Given the description of an element on the screen output the (x, y) to click on. 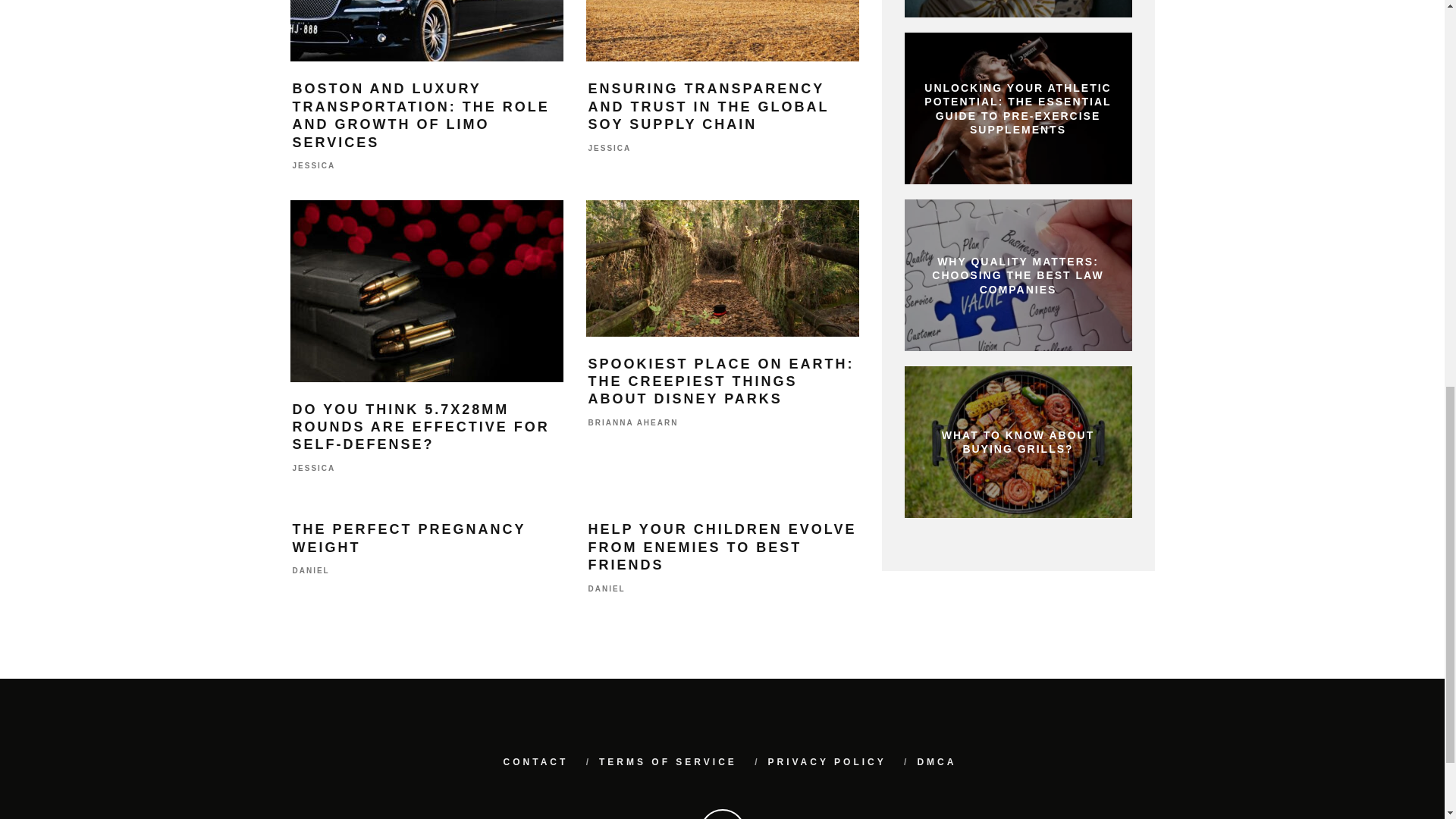
JESSICA (314, 468)
Asbestos Injury Lawyer: What Do They Do? (1017, 8)
BRIANNA AHEARN (633, 422)
JESSICA (314, 166)
Do You Think 5.7x28mm Rounds Are Effective For Self-defense? (425, 290)
THE PERFECT PREGNANCY WEIGHT (408, 537)
What to Know About Buying Grills? (1017, 441)
